Given the description of an element on the screen output the (x, y) to click on. 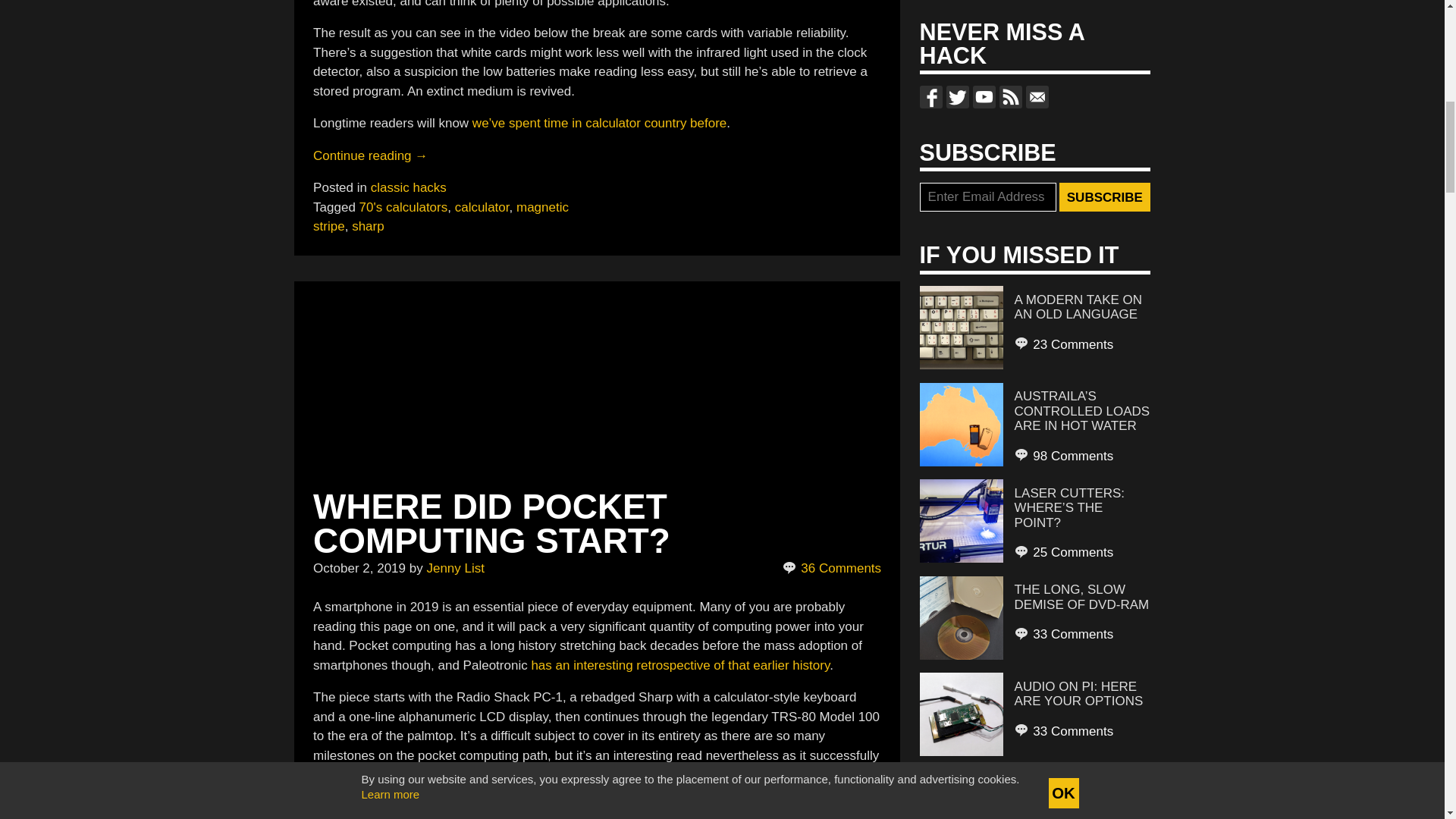
has an interesting retrospective of that earlier history (680, 665)
October 2, 2019 (359, 568)
36 Comments (832, 568)
calculator (481, 206)
Jenny List (455, 568)
Subscribe (1104, 196)
to scam an ATM in Terminator 2 (589, 803)
sharp (368, 226)
magnetic stripe (441, 216)
WHERE DID POCKET COMPUTING START? (491, 523)
